Given the description of an element on the screen output the (x, y) to click on. 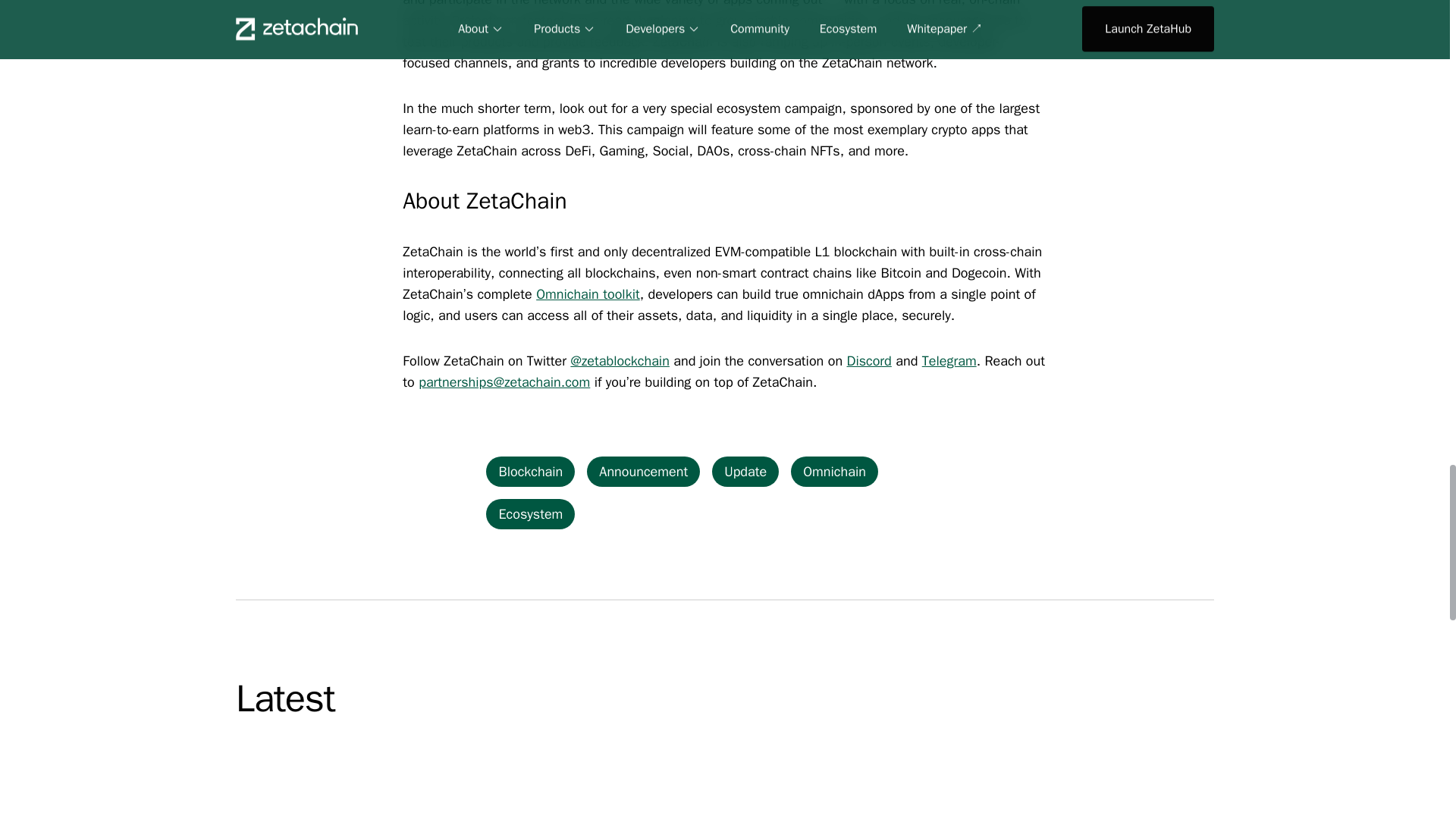
Discord (869, 360)
Telegram (948, 360)
Omnichain toolkit (587, 293)
